Given the description of an element on the screen output the (x, y) to click on. 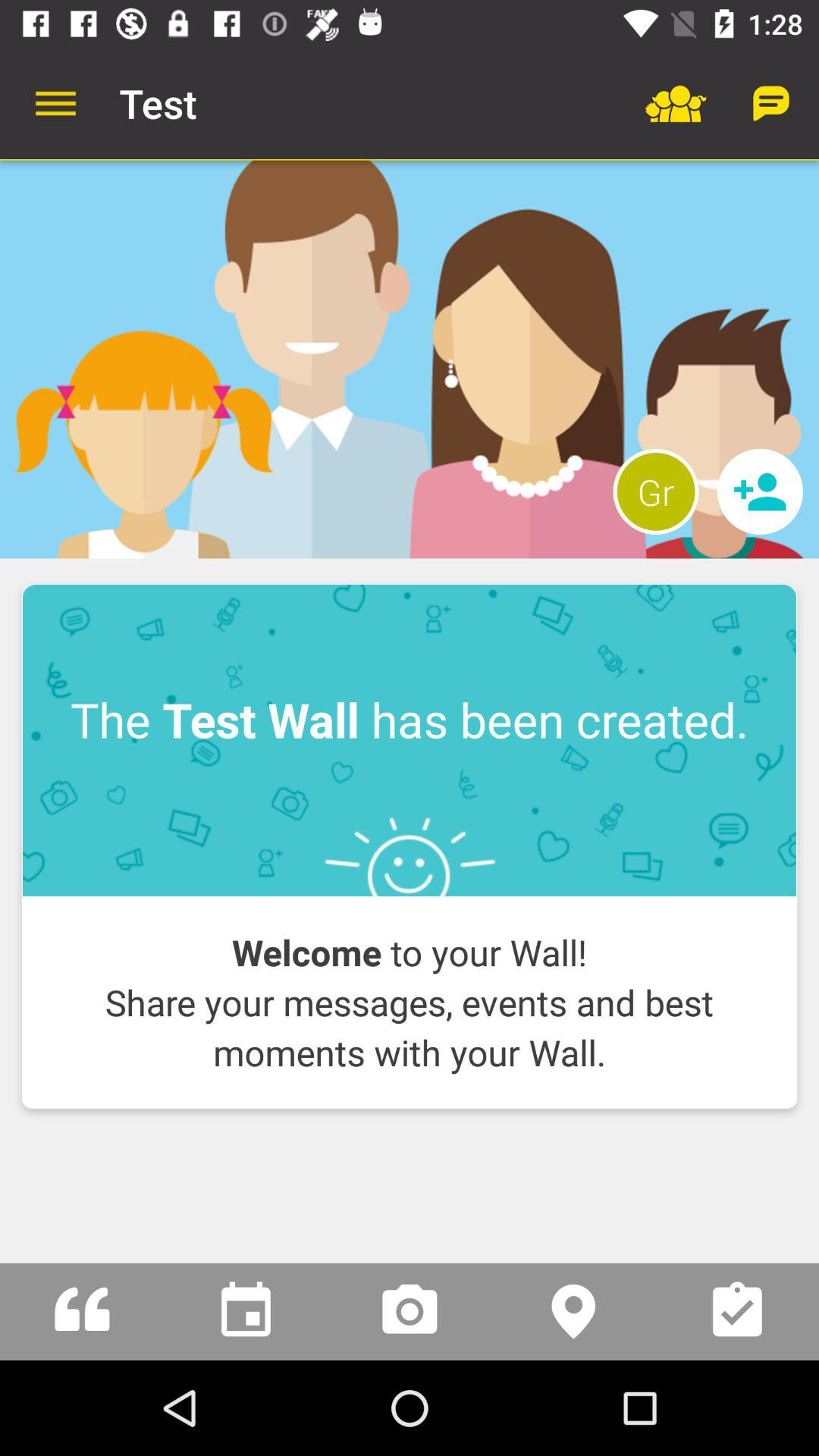
view calendar (245, 1311)
